Given the description of an element on the screen output the (x, y) to click on. 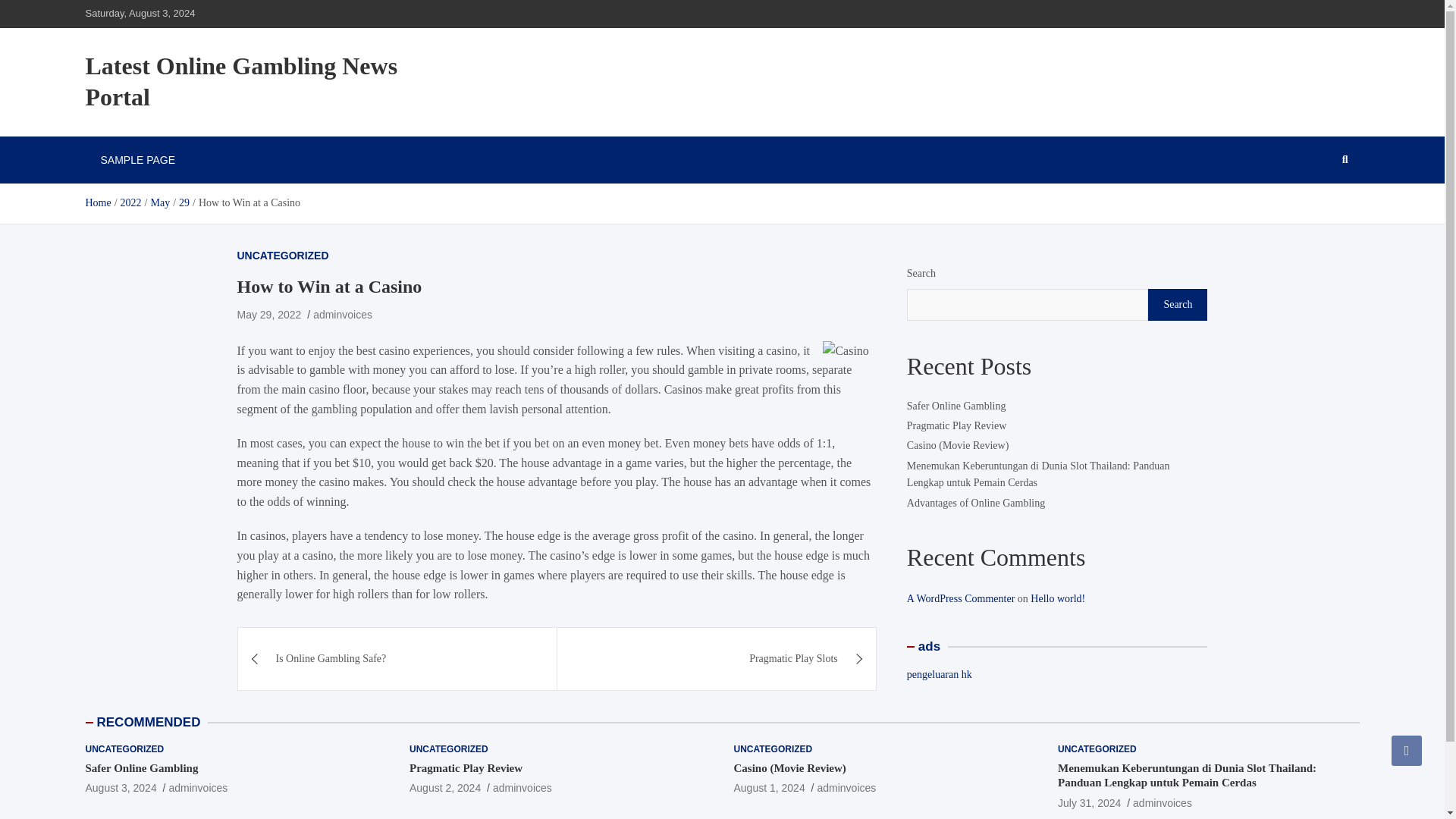
August 1, 2024 (769, 787)
Pragmatic Play Review (465, 767)
Latest Online Gambling News Portal (240, 81)
Safer Online Gambling (119, 787)
How to Win at a Casino (268, 314)
Search (1177, 305)
Safer Online Gambling (141, 767)
UNCATEGORIZED (123, 749)
A WordPress Commenter (960, 598)
Hello world! (1057, 598)
Advantages of Online Gambling (976, 502)
UNCATEGORIZED (282, 255)
UNCATEGORIZED (1097, 749)
Go to Top (1406, 750)
